Given the description of an element on the screen output the (x, y) to click on. 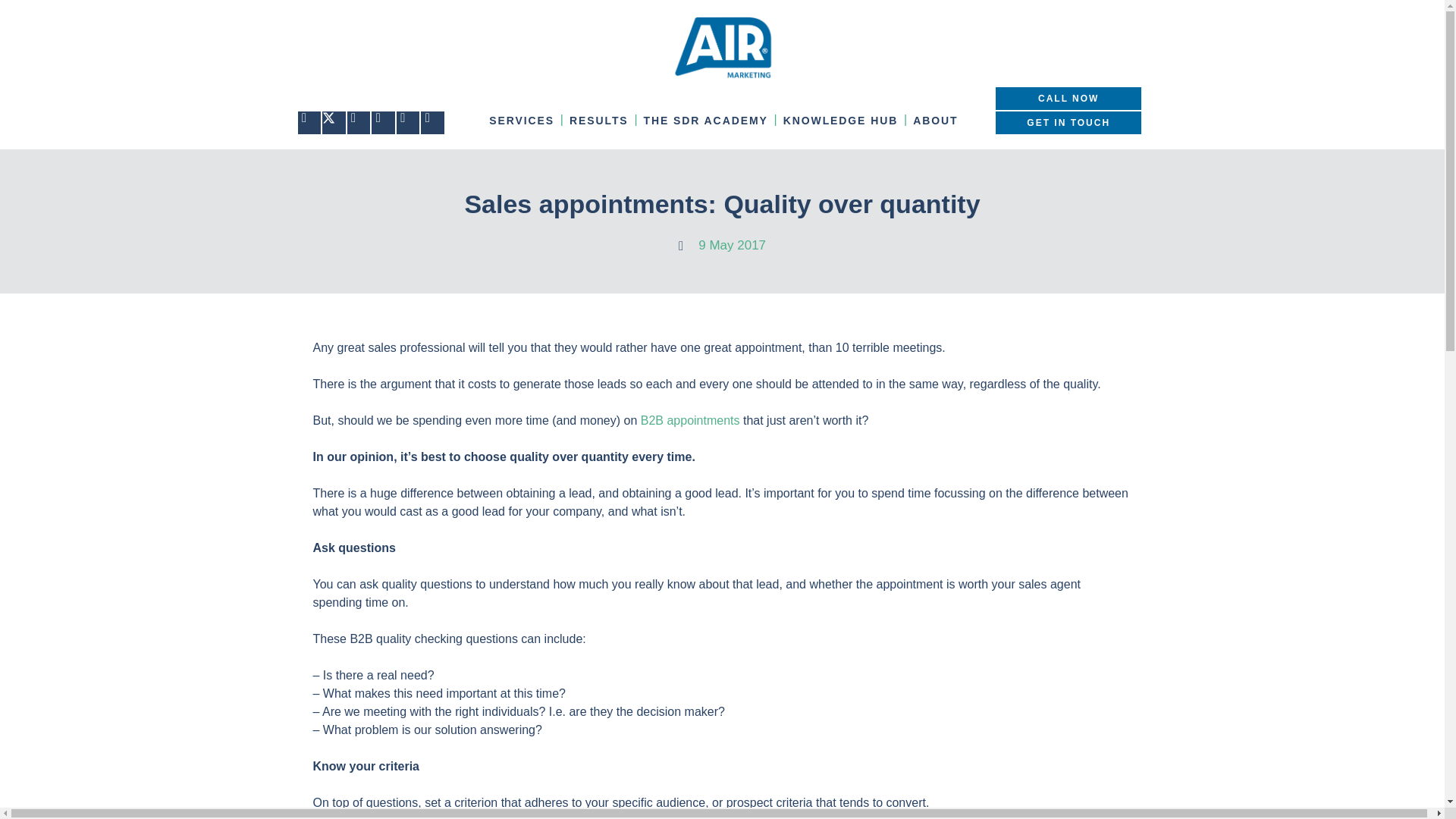
ABOUT (935, 120)
KNOWLEDGE HUB (840, 120)
THE SDR ACADEMY (705, 120)
SERVICES (521, 120)
RESULTS (598, 120)
